Given the description of an element on the screen output the (x, y) to click on. 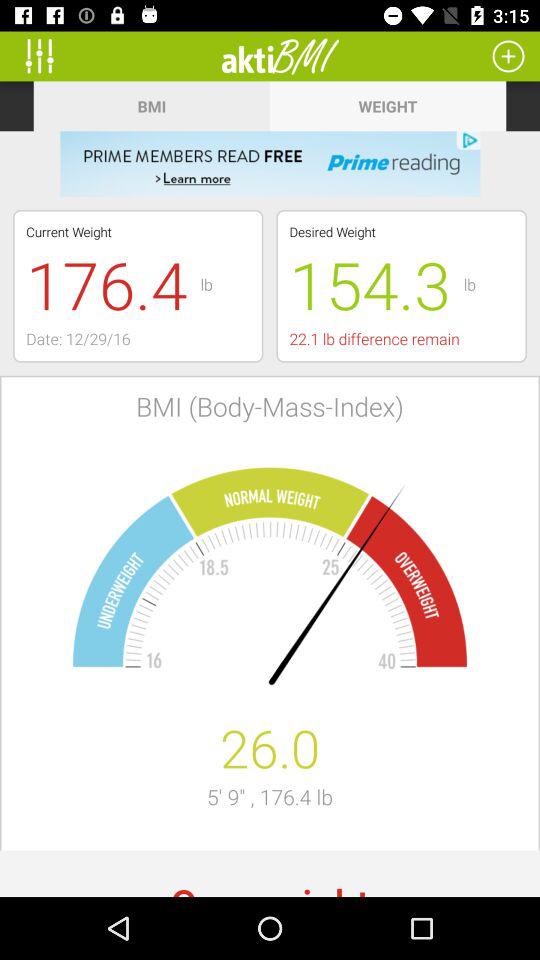
adjust bmi (46, 56)
